Given the description of an element on the screen output the (x, y) to click on. 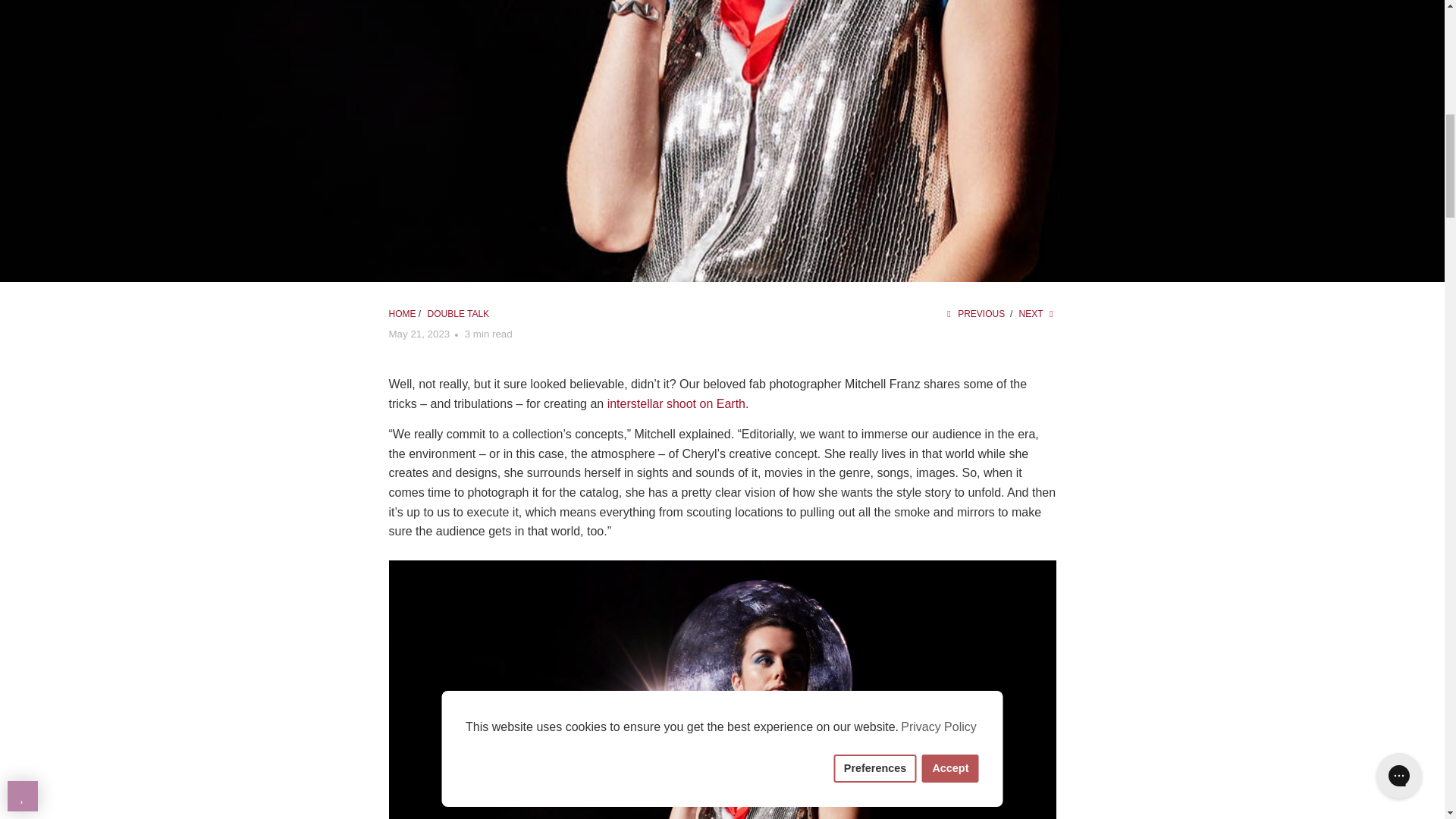
Double Talk (458, 313)
Double D Ranch (401, 313)
